Given the description of an element on the screen output the (x, y) to click on. 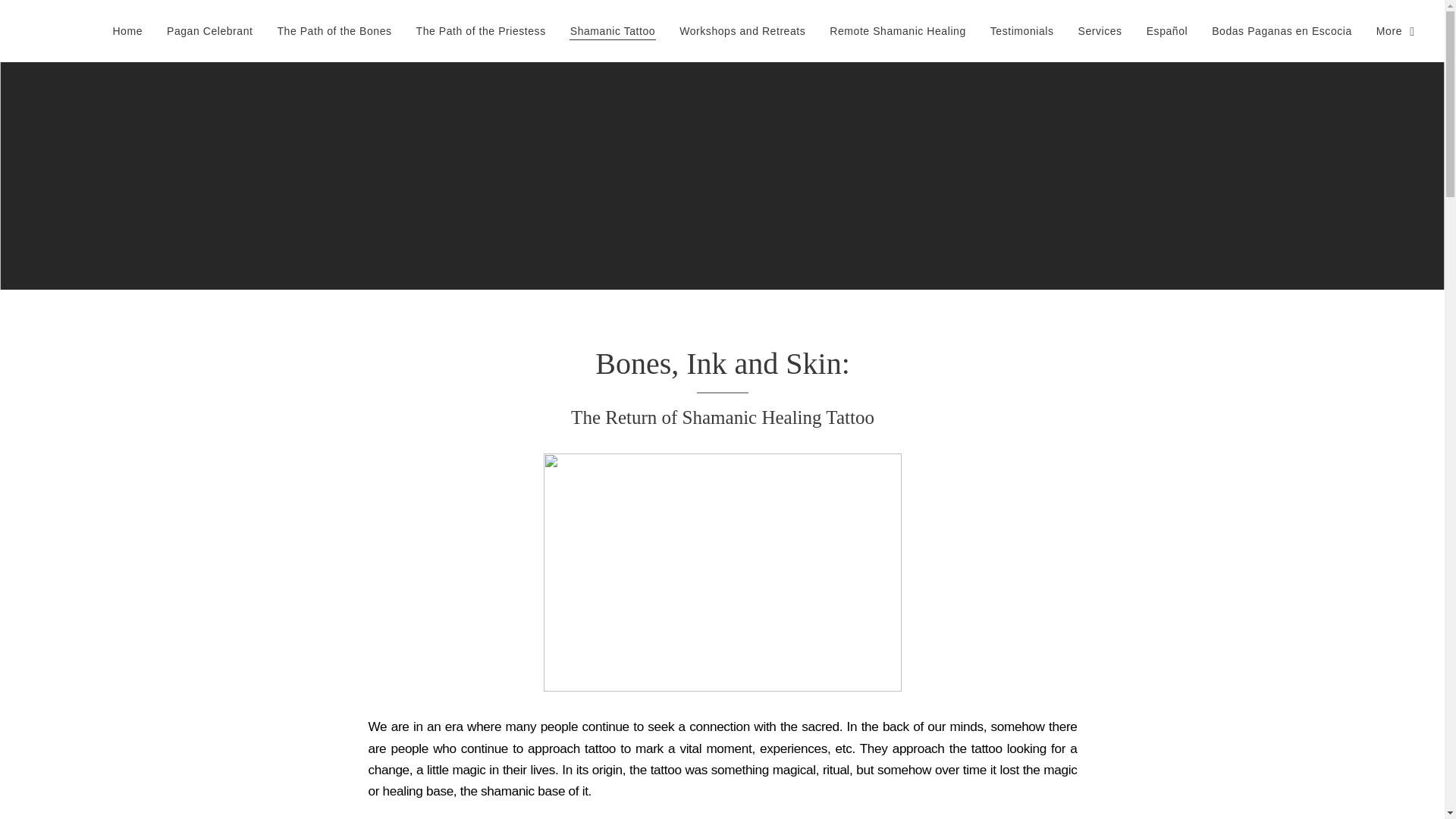
The Path of the Bones (333, 30)
Shamanic Tattoo (611, 30)
Services (1099, 30)
Home (130, 30)
More (1388, 30)
Remote Shamanic Healing (896, 30)
Testimonials (1021, 30)
Pagan Celebrant (209, 30)
Workshops and Retreats (741, 30)
Bodas Paganas en Escocia (1281, 30)
